Given the description of an element on the screen output the (x, y) to click on. 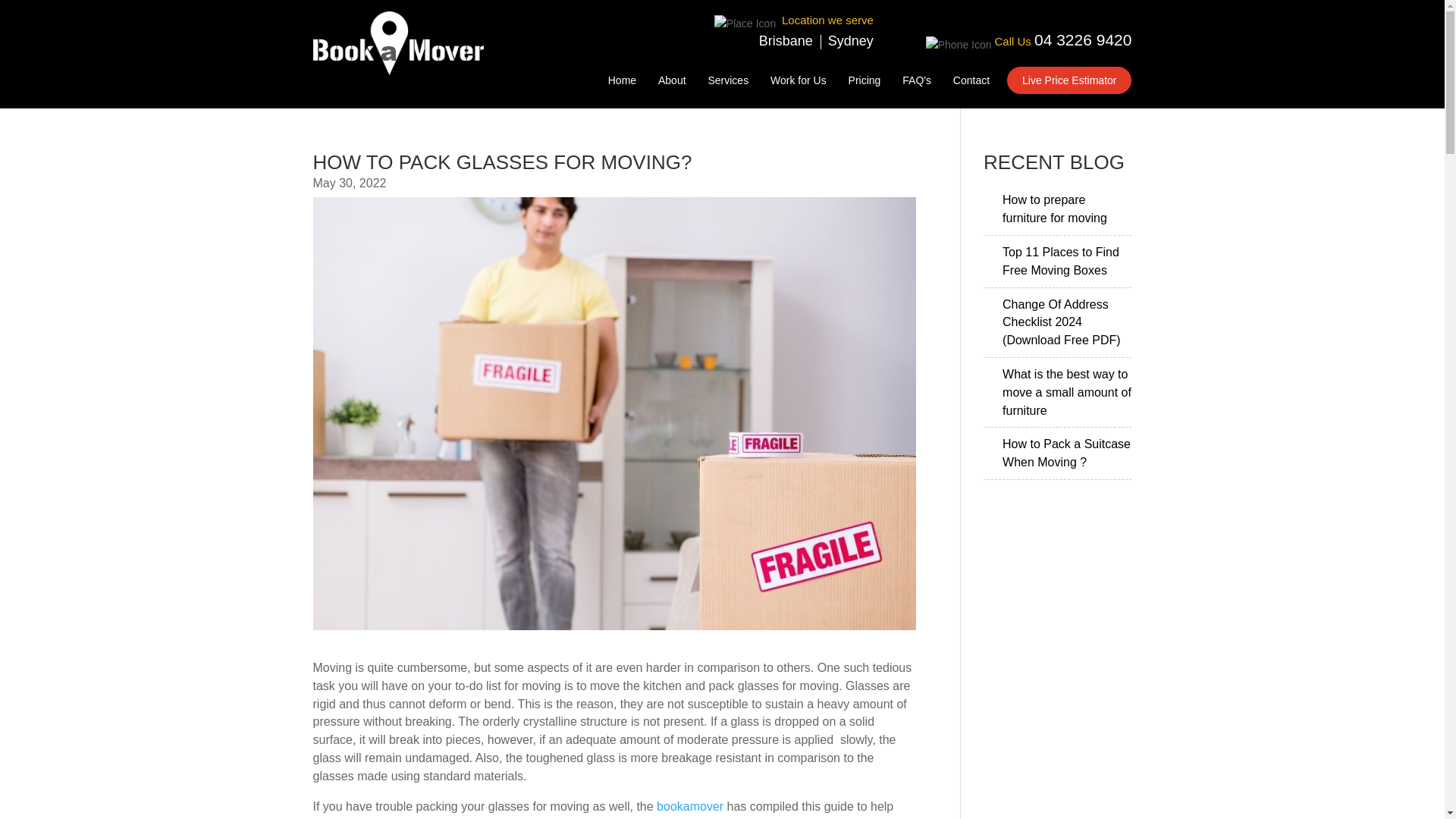
Live Price Estimator (1069, 80)
Services (727, 83)
FAQ's (917, 83)
About (671, 83)
What is the best way to move a small amount of furniture (1067, 391)
Top 11 Places to Find Free Moving Boxes (1061, 260)
Work for Us (798, 83)
Pricing (864, 83)
Home (622, 83)
How to Pack a Suitcase When Moving ? (1067, 452)
